Given the description of an element on the screen output the (x, y) to click on. 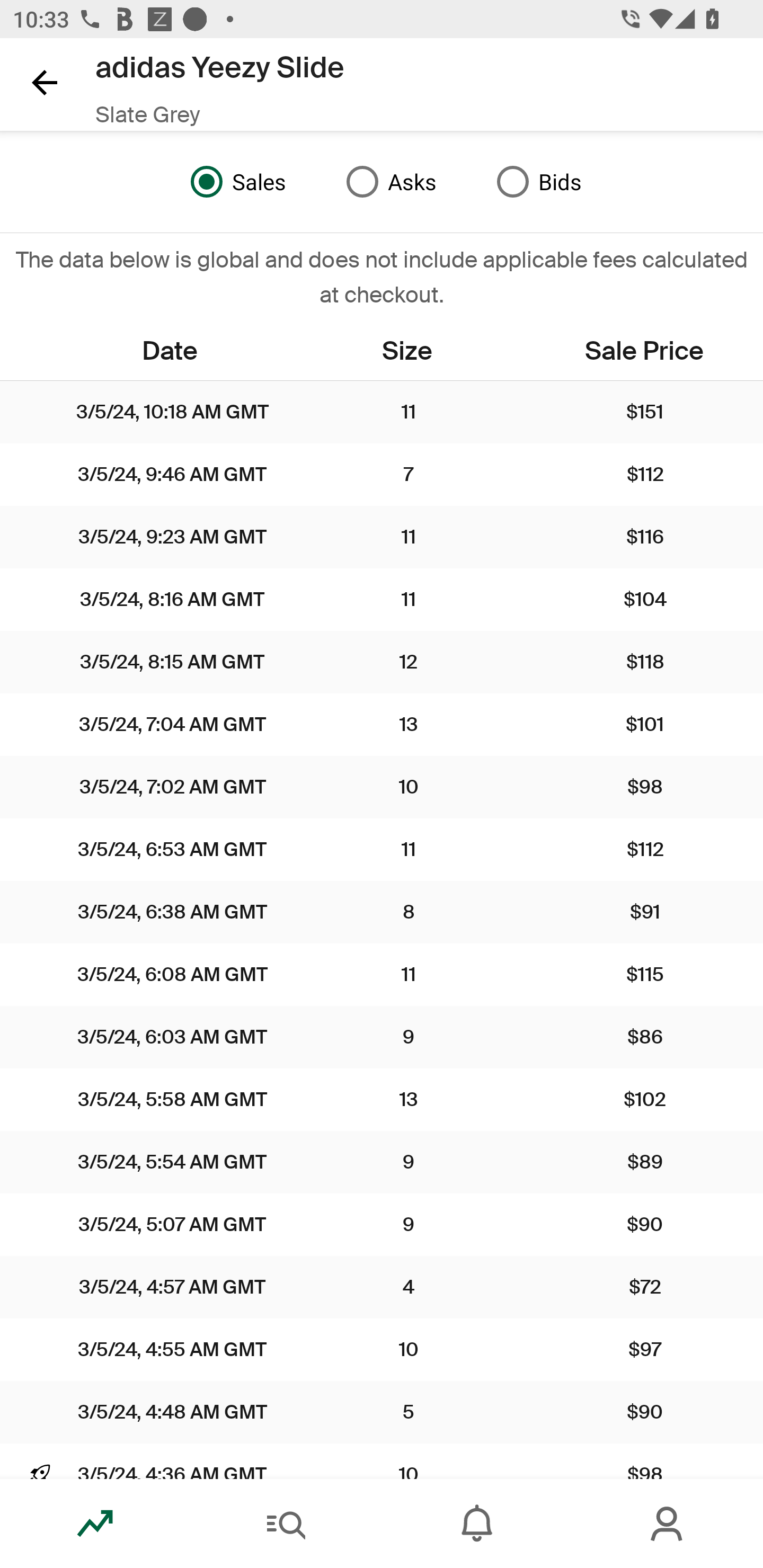
Sales (233, 181)
Asks (386, 181)
Bids (534, 181)
Search (285, 1523)
Inbox (476, 1523)
Account (667, 1523)
